Given the description of an element on the screen output the (x, y) to click on. 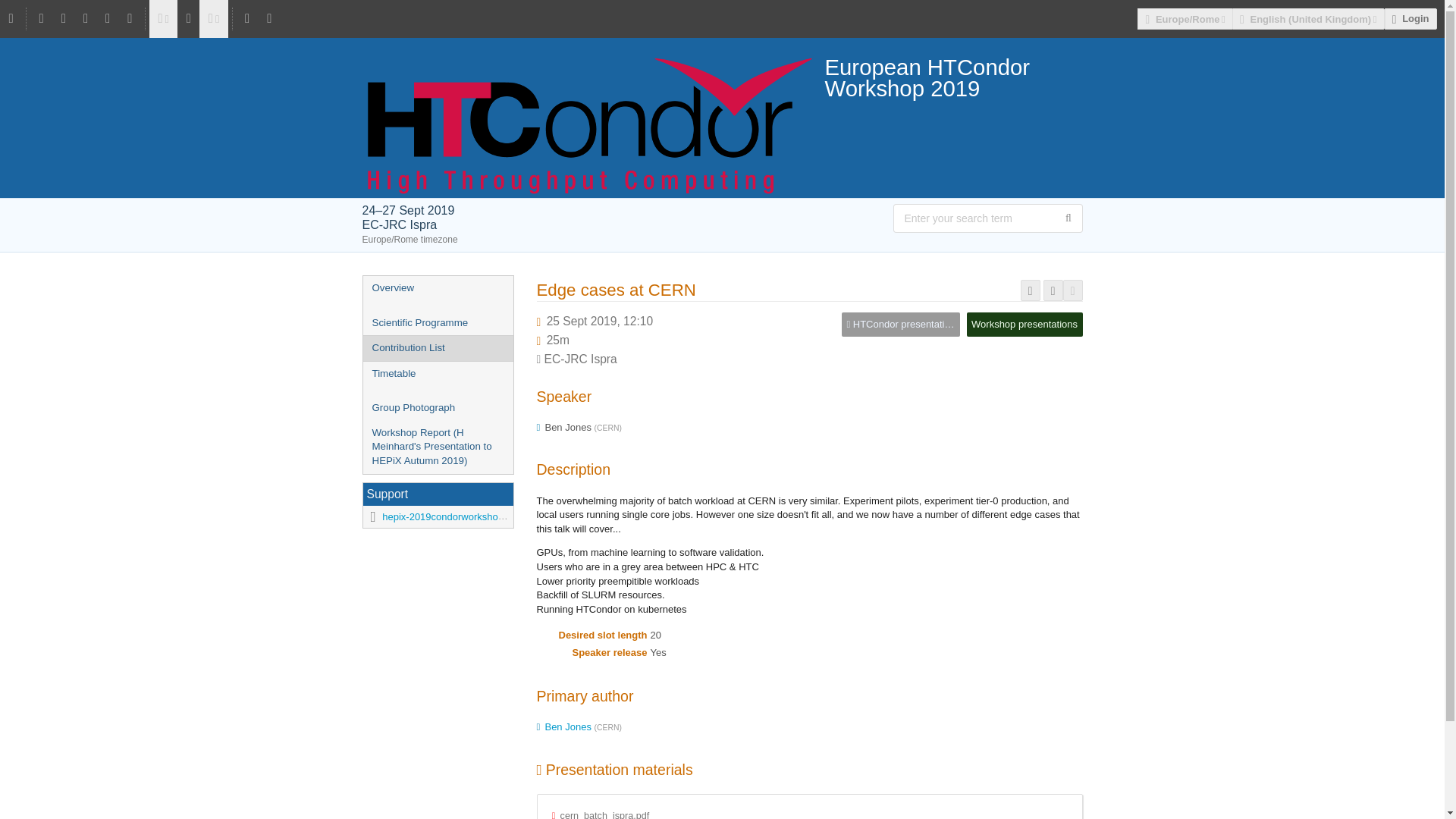
Overview (437, 288)
European HTCondor Workshop 2019 (722, 77)
Export (1072, 291)
Obtain short URL (1030, 291)
Scientific Programme (437, 323)
Contribution List (437, 348)
Export to PDF (1052, 291)
Login (1410, 19)
Duration (558, 339)
